Given the description of an element on the screen output the (x, y) to click on. 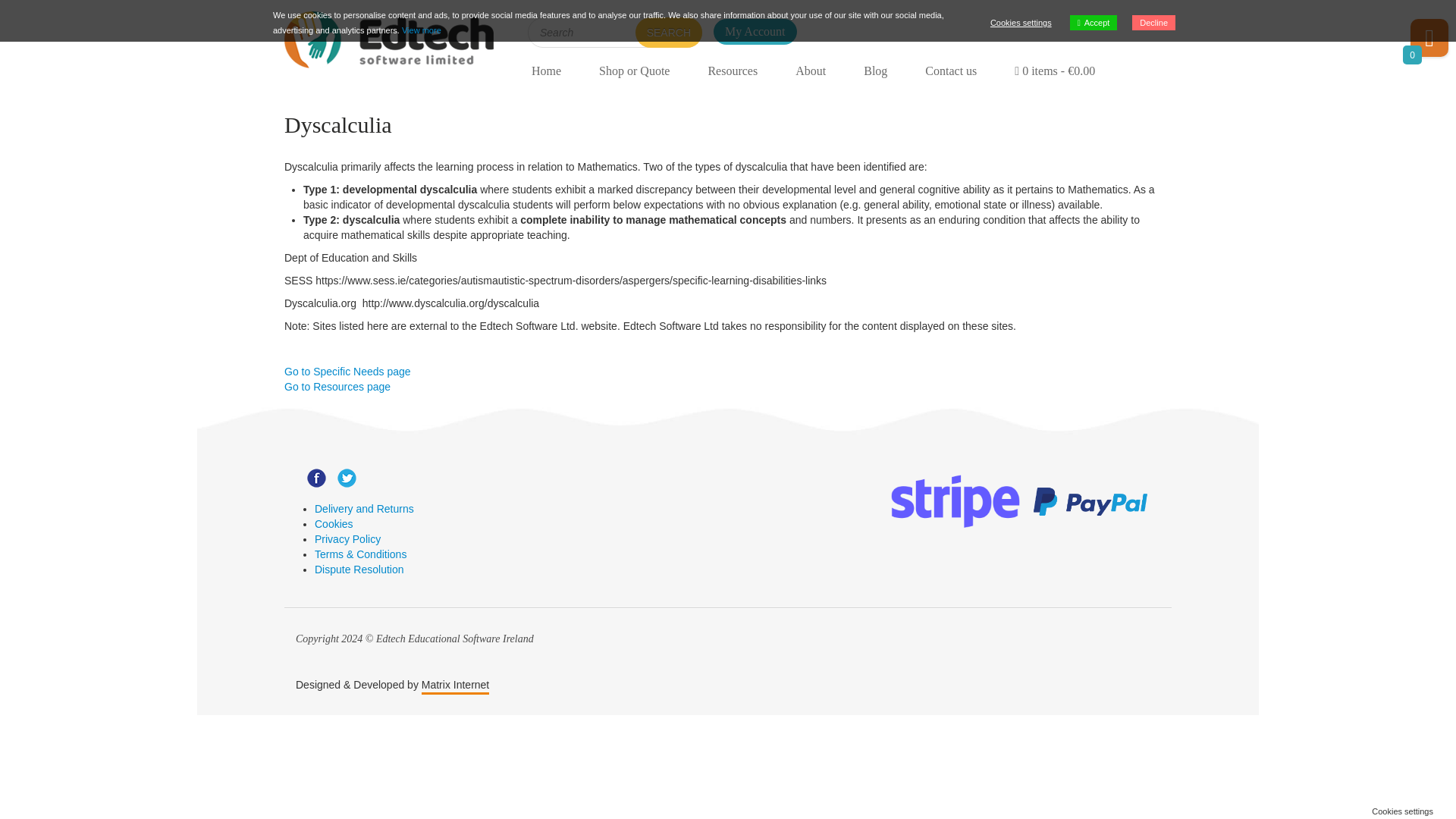
Blog (874, 70)
Delivery and Returns (363, 508)
Home (545, 70)
Start shopping (1054, 70)
Matrix Internet (455, 684)
Shop or Quote (633, 70)
About (809, 70)
View more (421, 30)
Edtech Software Logo (388, 39)
Go to Specific Needs page (346, 371)
